Given the description of an element on the screen output the (x, y) to click on. 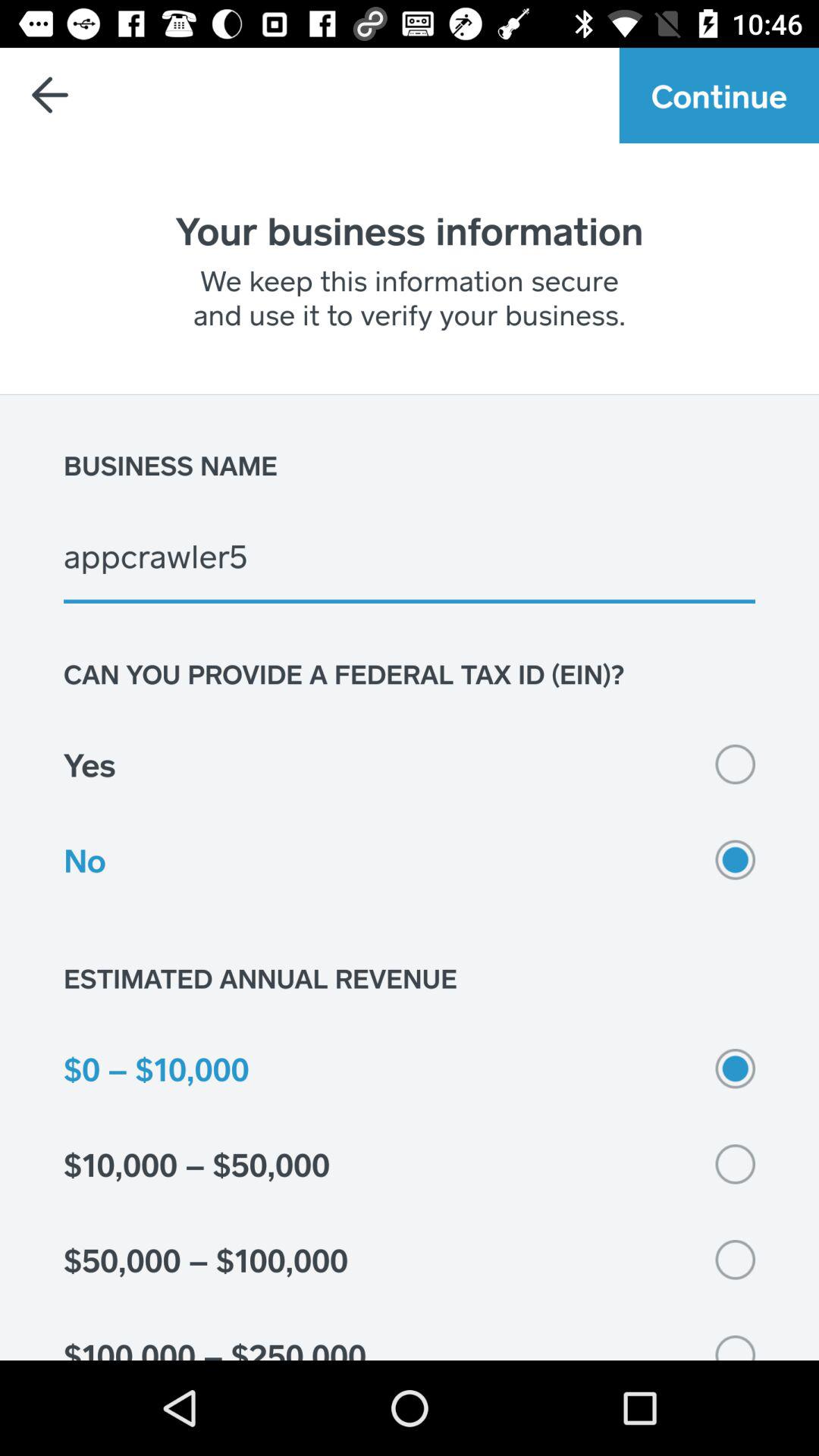
tap item above no icon (409, 764)
